Given the description of an element on the screen output the (x, y) to click on. 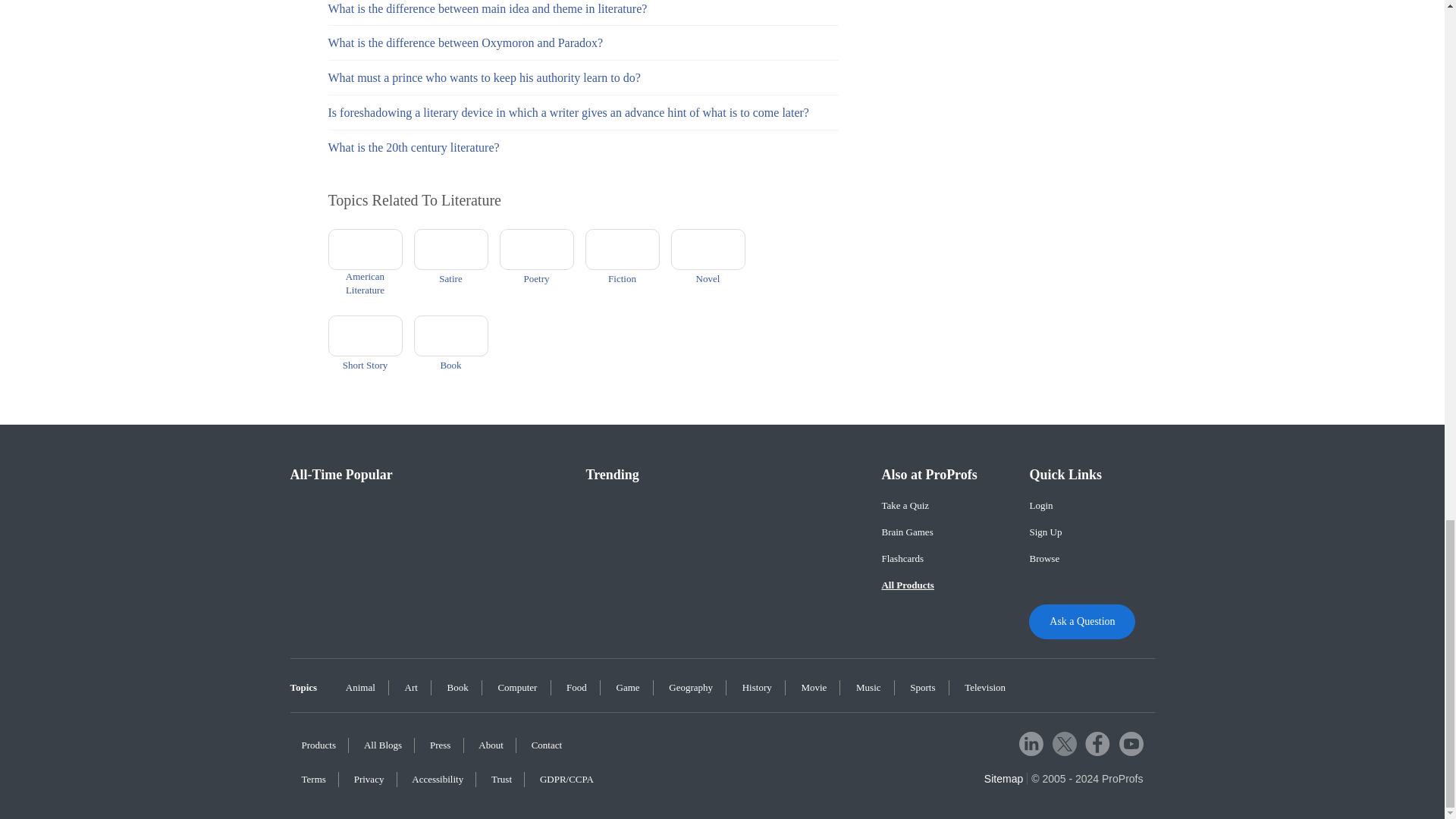
Follow us on linkedIn (1031, 743)
Follow us on Youtube (1130, 743)
Follow us on facebook (1096, 743)
